Given the description of an element on the screen output the (x, y) to click on. 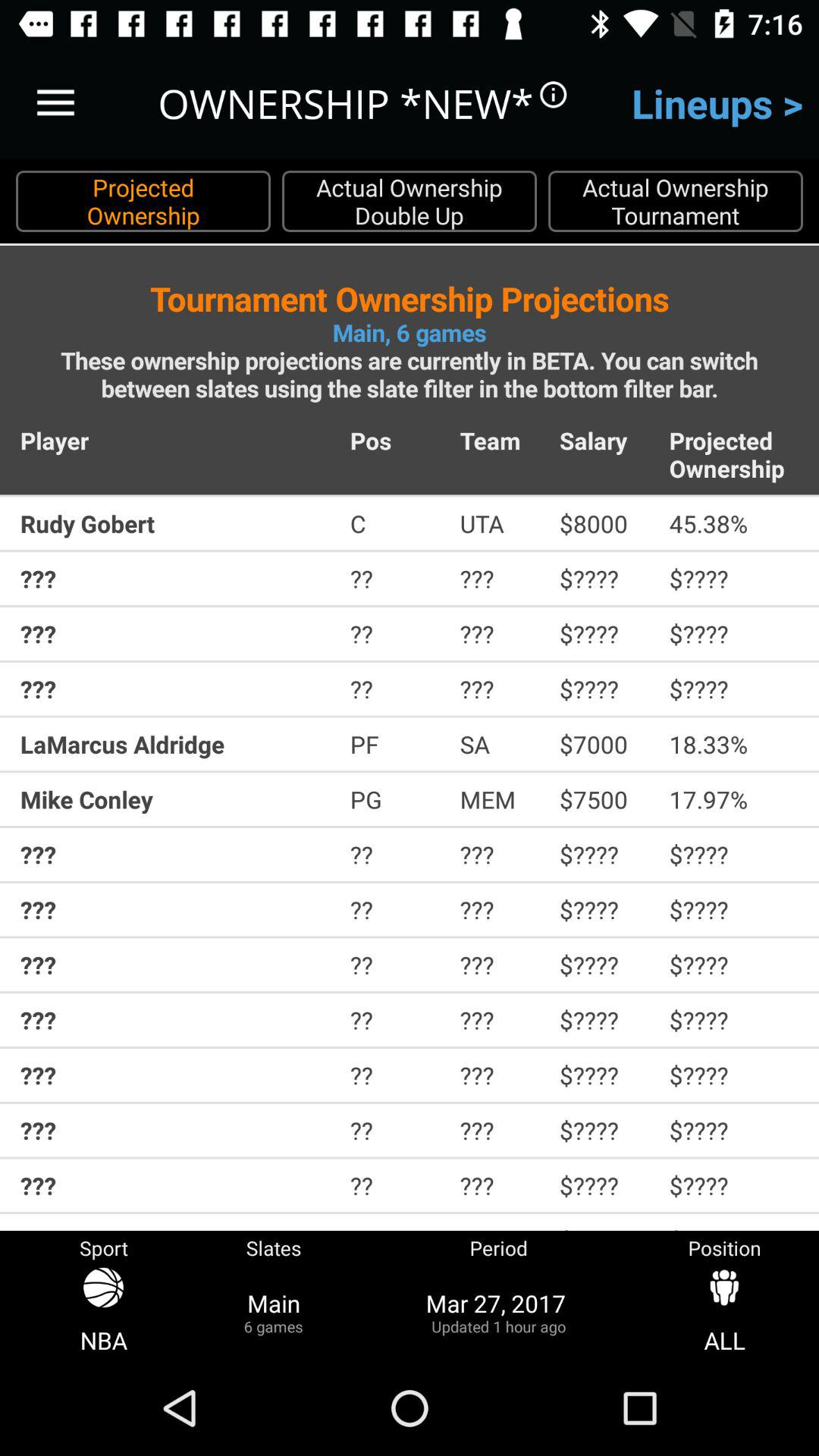
press icon to the left of the ownership *new* item (55, 103)
